Given the description of an element on the screen output the (x, y) to click on. 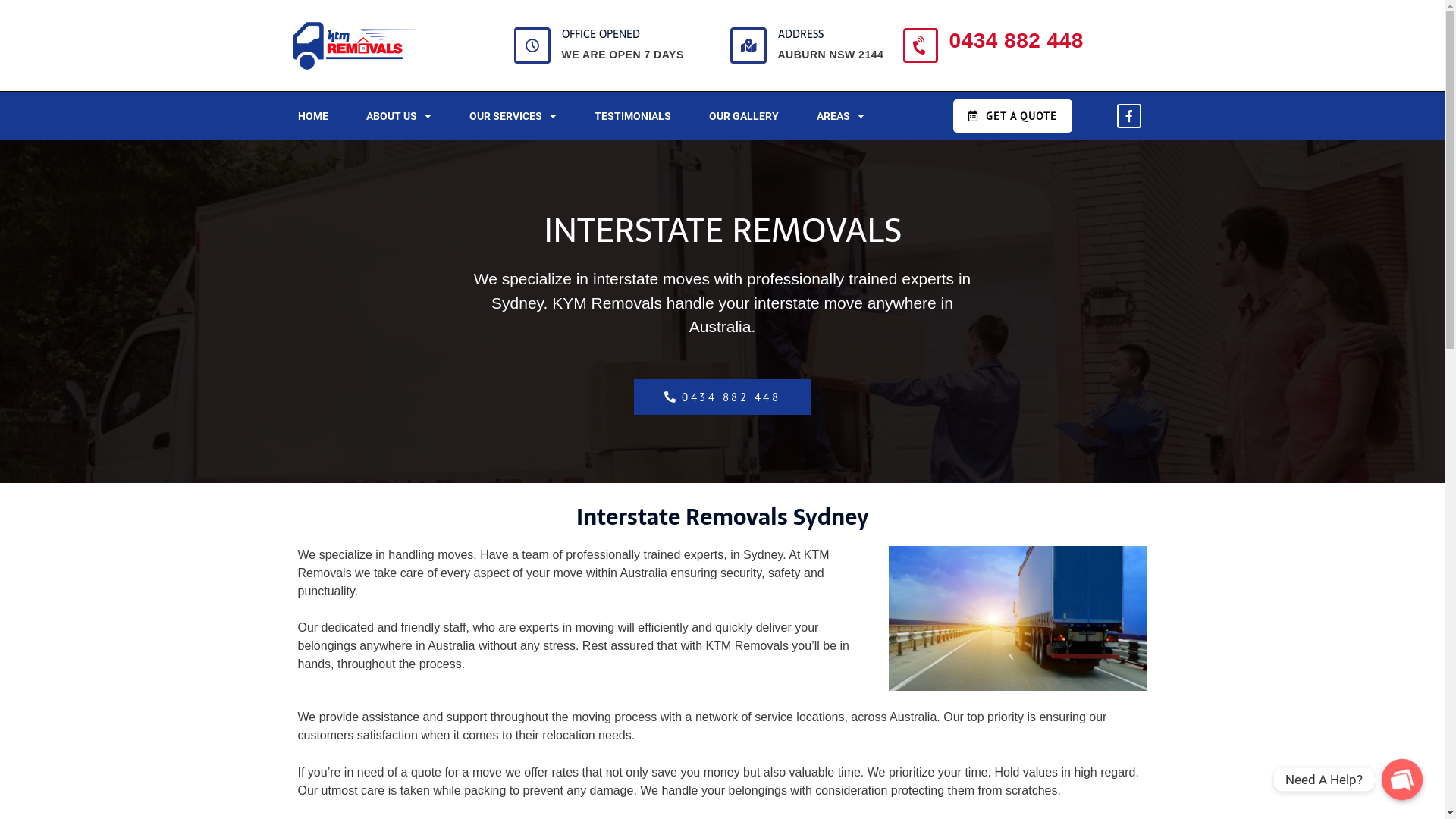
OUR GALLERY Element type: text (743, 115)
Facebook-f Element type: text (1129, 115)
OUR SERVICES Element type: text (511, 115)
HOME Element type: text (312, 115)
AREAS Element type: text (839, 115)
GET A QUOTE Element type: text (1012, 115)
TESTIMONIALS Element type: text (632, 115)
0434 882 448 Element type: text (722, 396)
ABOUT US Element type: text (397, 115)
